Given the description of an element on the screen output the (x, y) to click on. 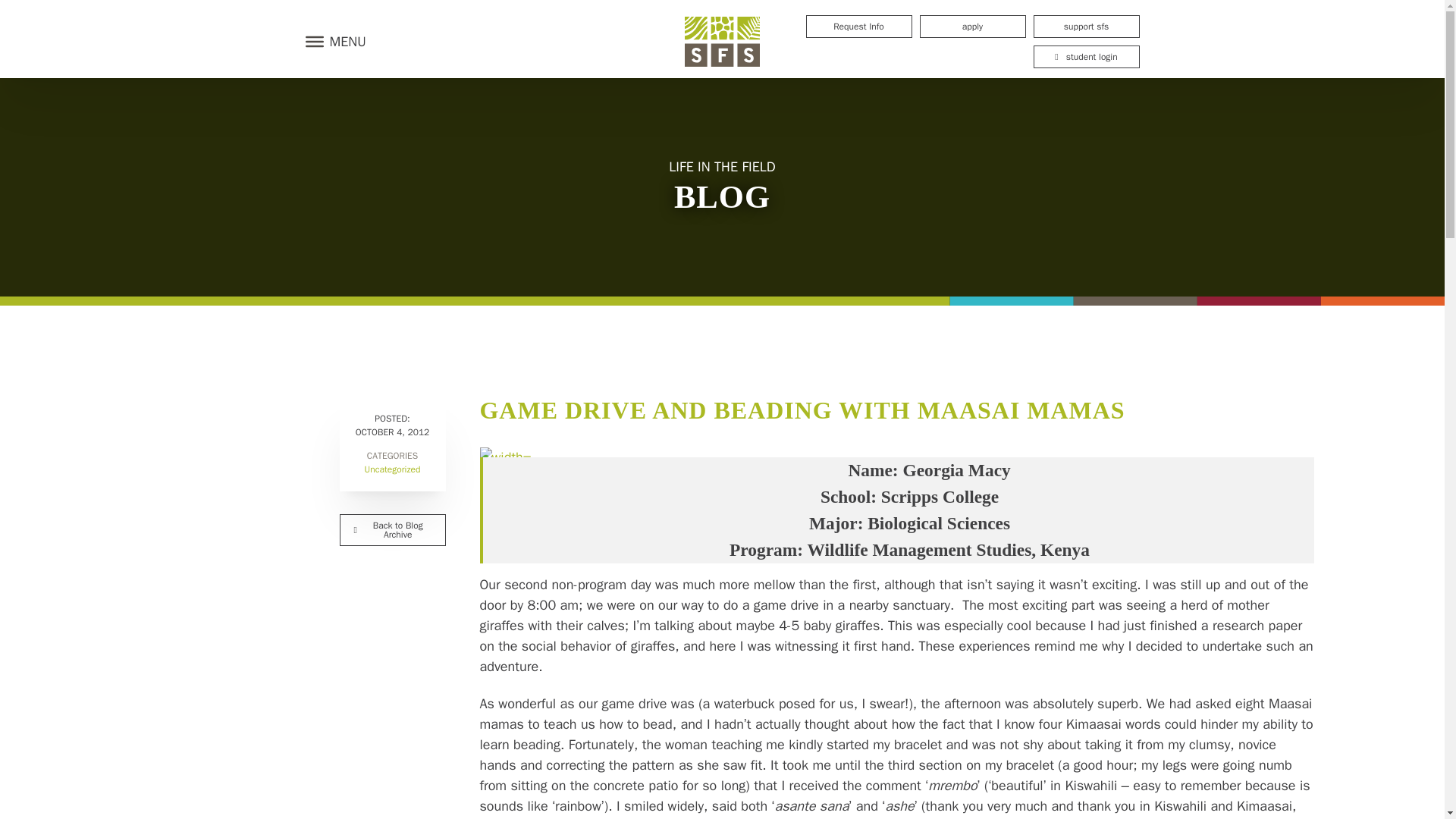
support sfs (1085, 26)
student login (1085, 56)
apply (971, 26)
Request Info (858, 26)
MENU (331, 41)
5116 (505, 457)
